Given the description of an element on the screen output the (x, y) to click on. 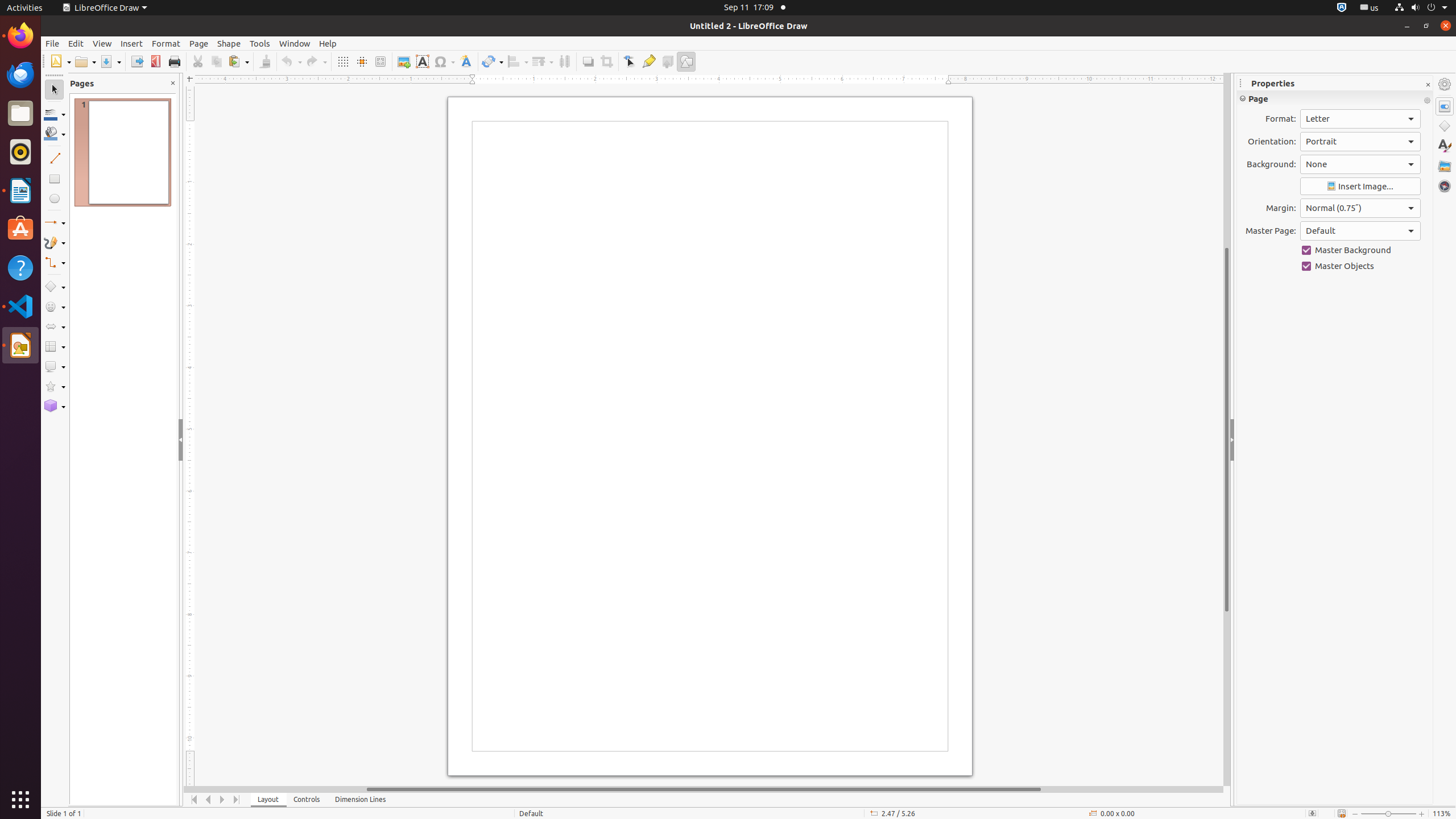
LibreOffice Writer Element type: push-button (20, 190)
New Element type: push-button (59, 61)
Align Element type: push-button (517, 61)
Shape Element type: menu (228, 43)
System Element type: menu (1420, 7)
